Given the description of an element on the screen output the (x, y) to click on. 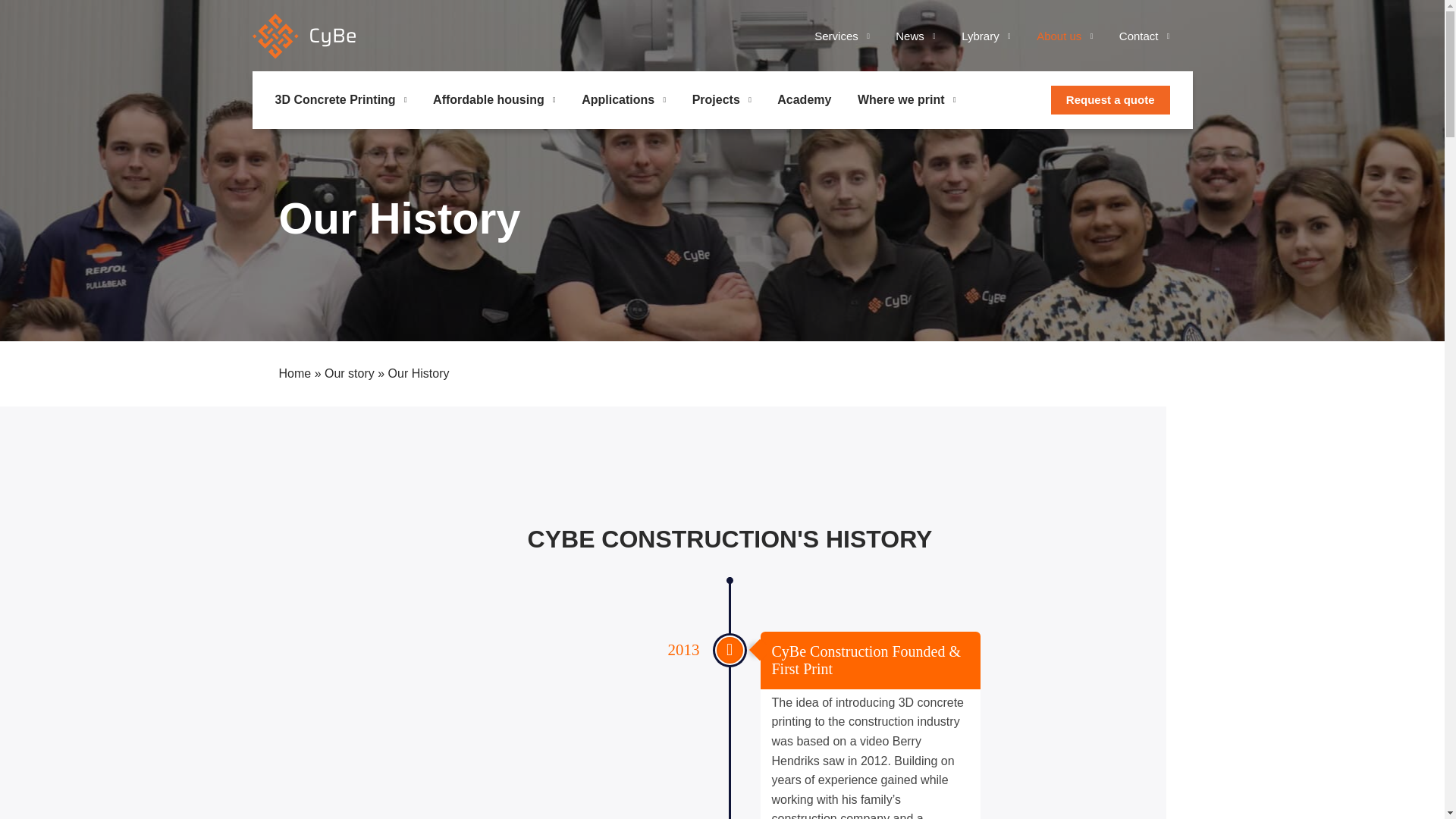
3D Concrete Printing (340, 99)
Group 65 (303, 35)
Affordable housing (494, 99)
News (915, 35)
About us (1064, 35)
Contact (1144, 35)
Lybrary (985, 35)
Group 65 (303, 38)
Services (841, 35)
Applications (622, 99)
